Given the description of an element on the screen output the (x, y) to click on. 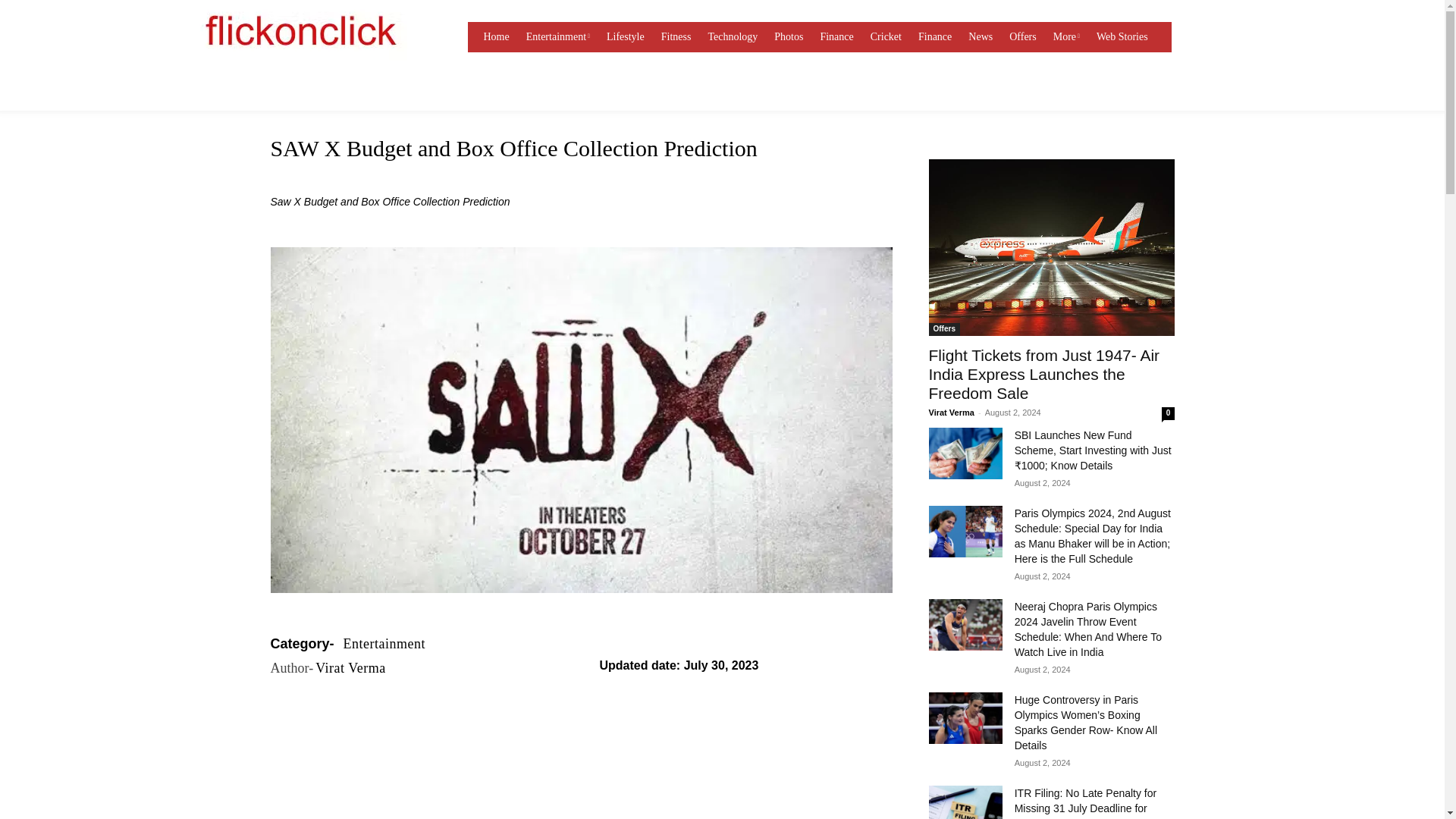
Photos (789, 37)
Fitness (675, 37)
Entertainment (557, 37)
Technology (732, 37)
Lifestyle (625, 37)
Finance (836, 37)
Finance (935, 37)
Home (496, 37)
Advertisement (580, 802)
Cricket (885, 37)
News (980, 37)
